Given the description of an element on the screen output the (x, y) to click on. 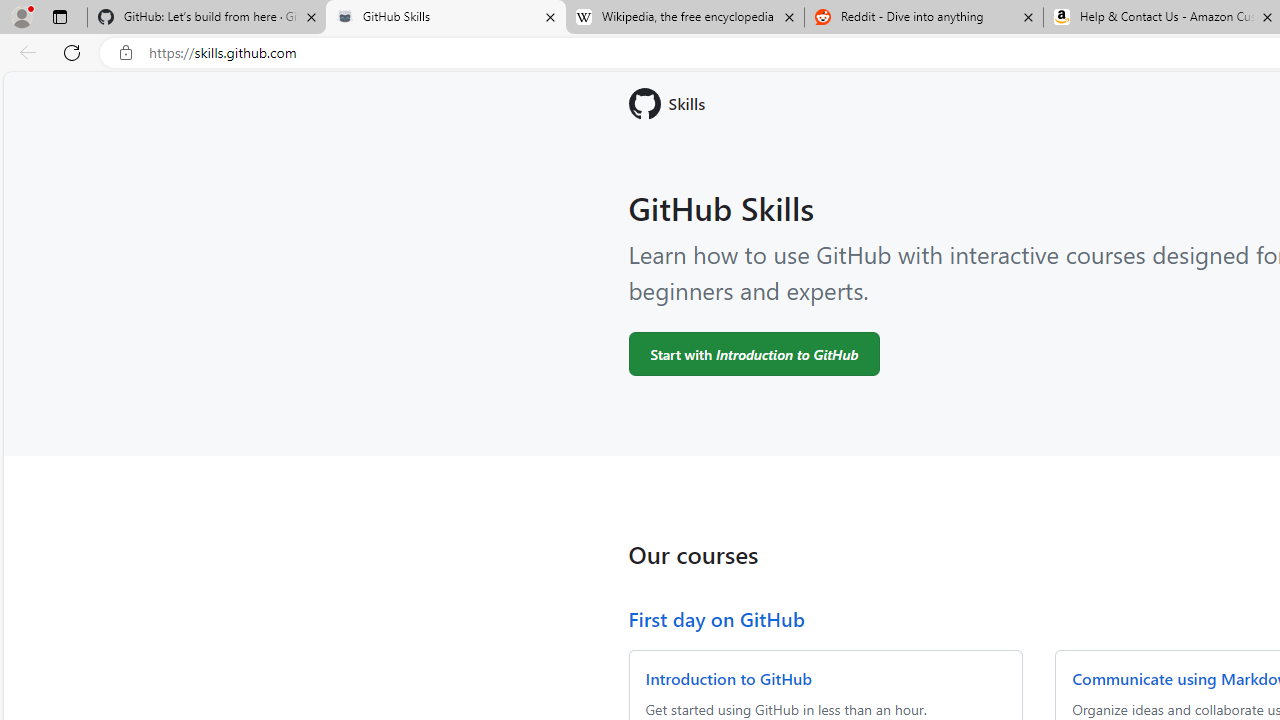
Introduction to GitHub (728, 678)
First day on GitHub (716, 618)
GitHub Skills (445, 17)
Start with Introduction to GitHub (754, 353)
Wikipedia, the free encyclopedia (684, 17)
